Given the description of an element on the screen output the (x, y) to click on. 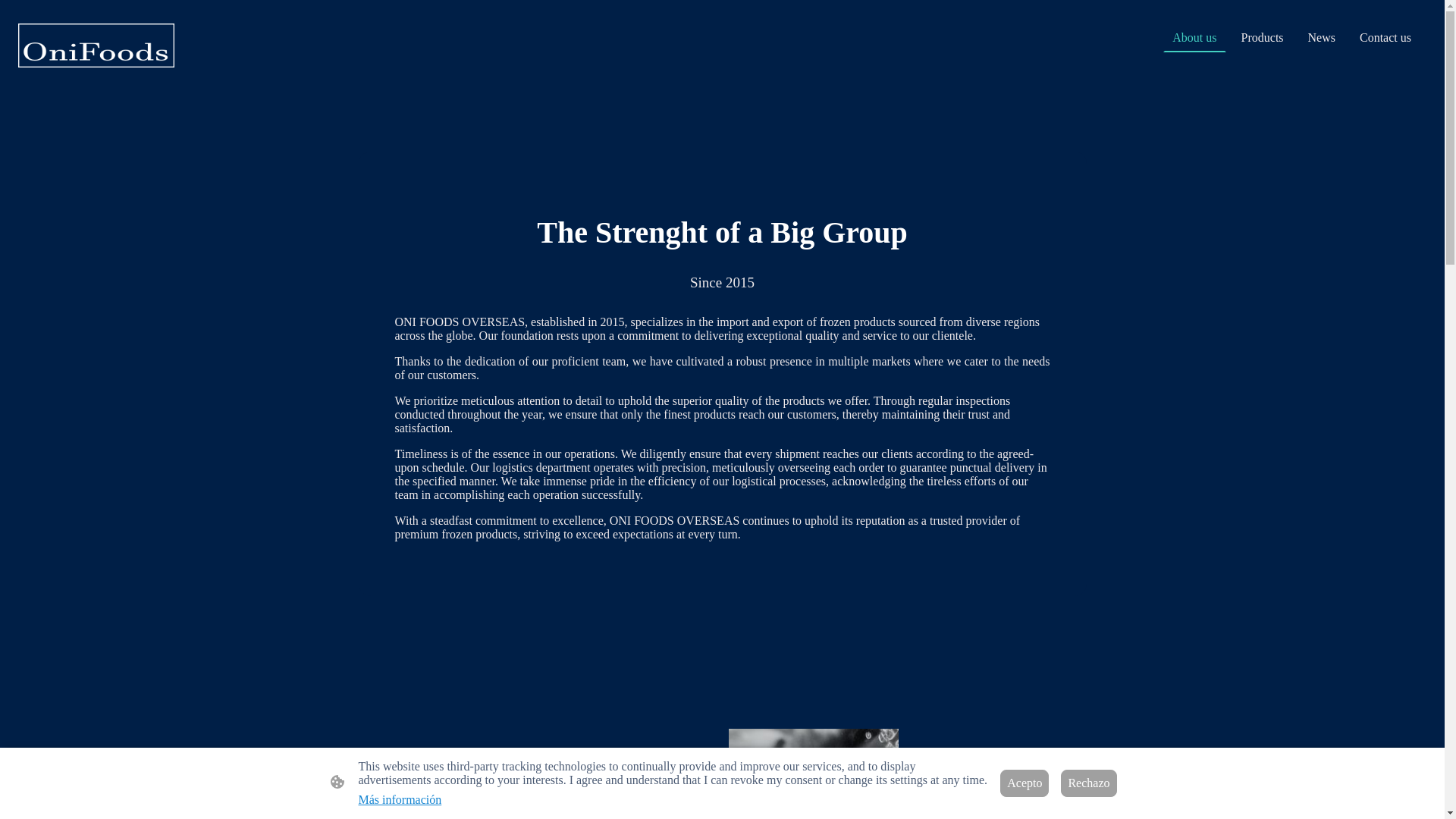
News (1321, 37)
Contact us (1385, 37)
Acepto (1024, 782)
About us (1194, 37)
Products (1262, 37)
Rechazo (1088, 782)
